Given the description of an element on the screen output the (x, y) to click on. 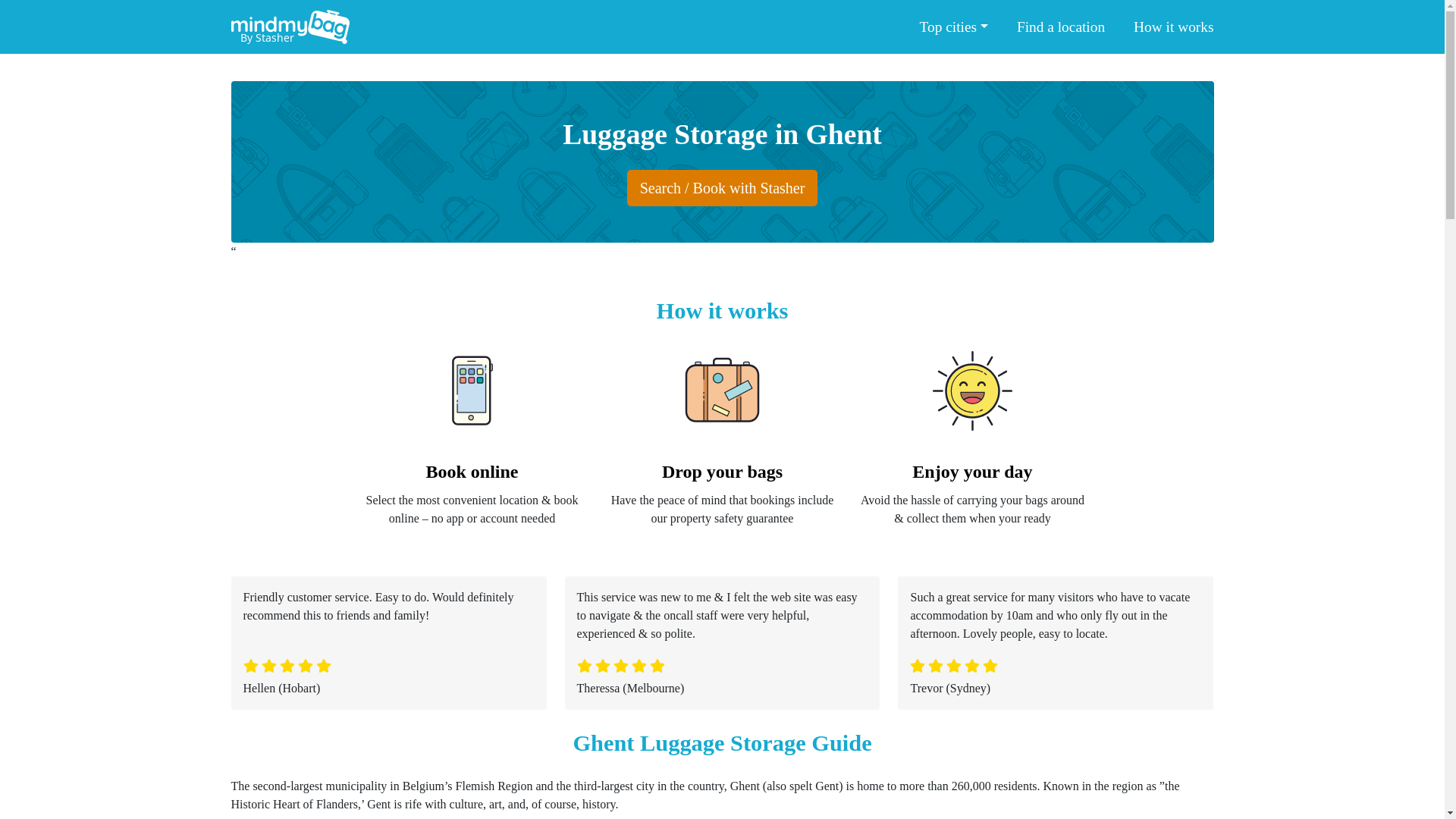
Find a location (1060, 26)
Top cities (952, 26)
How it works (1169, 26)
